Given the description of an element on the screen output the (x, y) to click on. 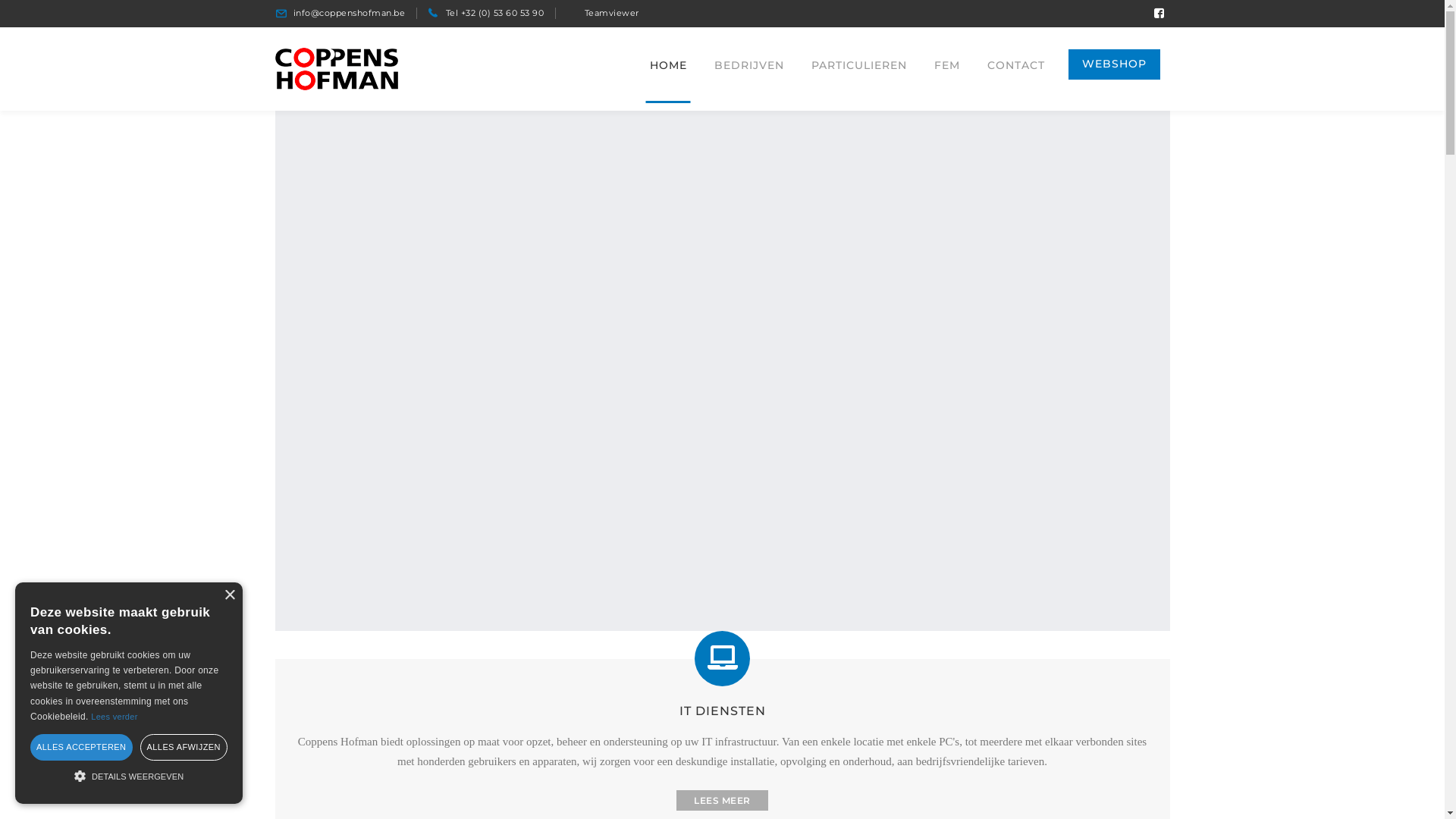
PARTICULIEREN Element type: text (858, 65)
Coppens Hofman Element type: hover (335, 67)
BEDRIJVEN Element type: text (748, 65)
CONTACT Element type: text (1015, 65)
Lees verder Element type: text (114, 716)
LEES MEER Element type: text (722, 800)
FEM Element type: text (946, 65)
IT DIENSTEN Element type: text (722, 710)
WEBSHOP Element type: text (1113, 64)
HOME Element type: text (668, 65)
Facebook Profile Element type: text (1158, 13)
Teamviewer Element type: text (610, 12)
